Given the description of an element on the screen output the (x, y) to click on. 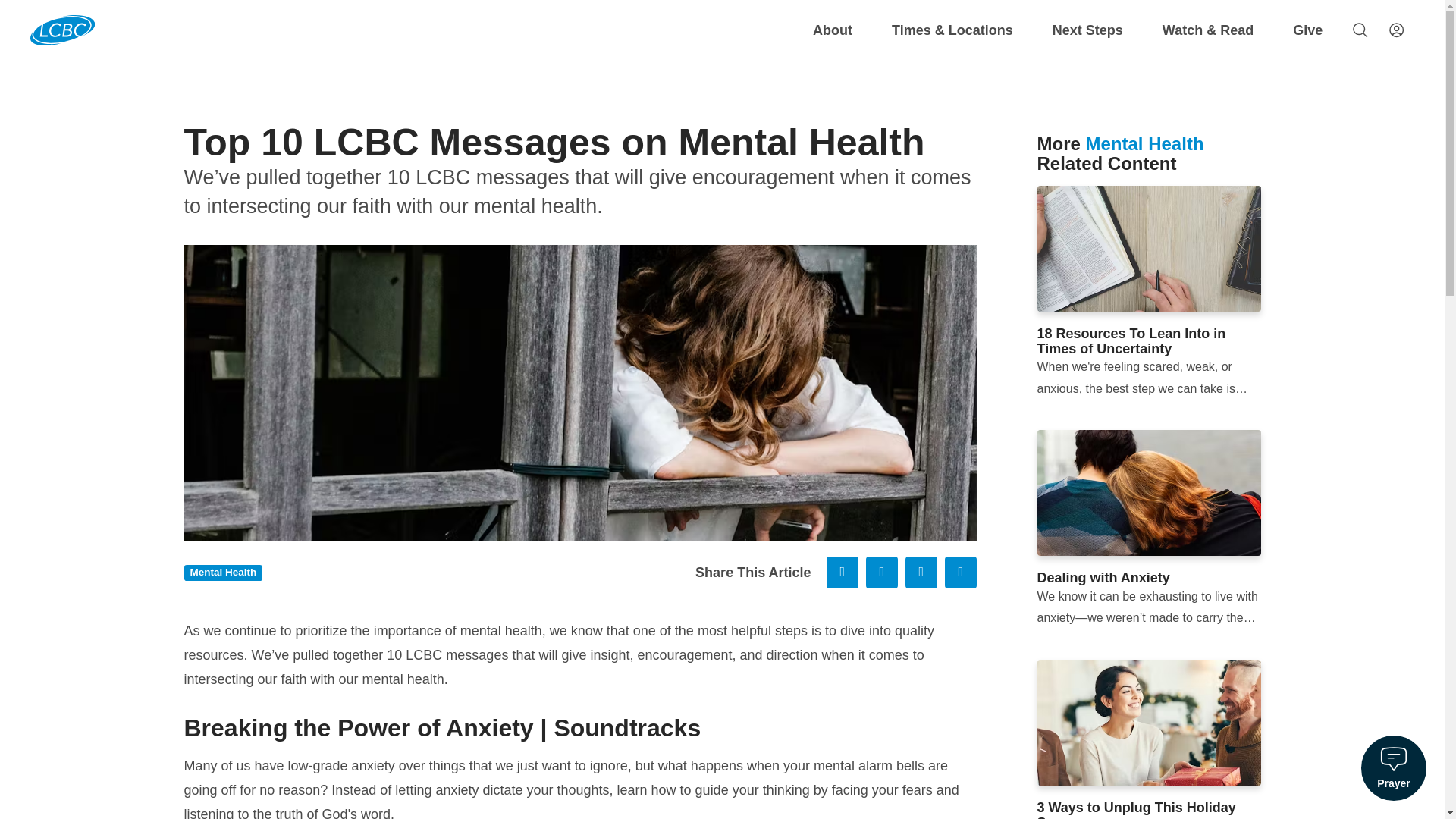
Next Steps (1087, 30)
About (832, 30)
Give (1307, 30)
